Given the description of an element on the screen output the (x, y) to click on. 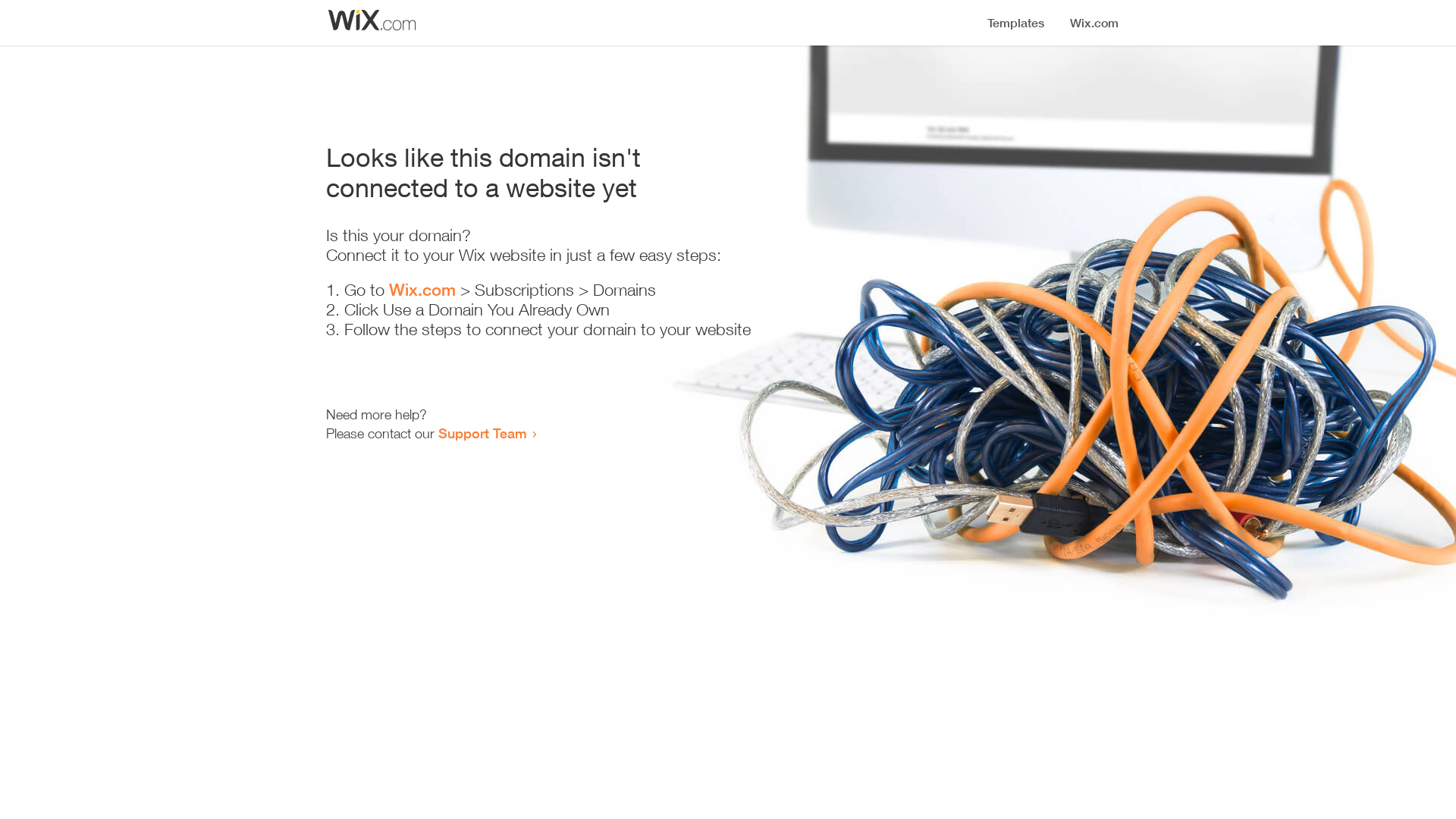
Support Team Element type: text (482, 432)
Wix.com Element type: text (422, 289)
